Given the description of an element on the screen output the (x, y) to click on. 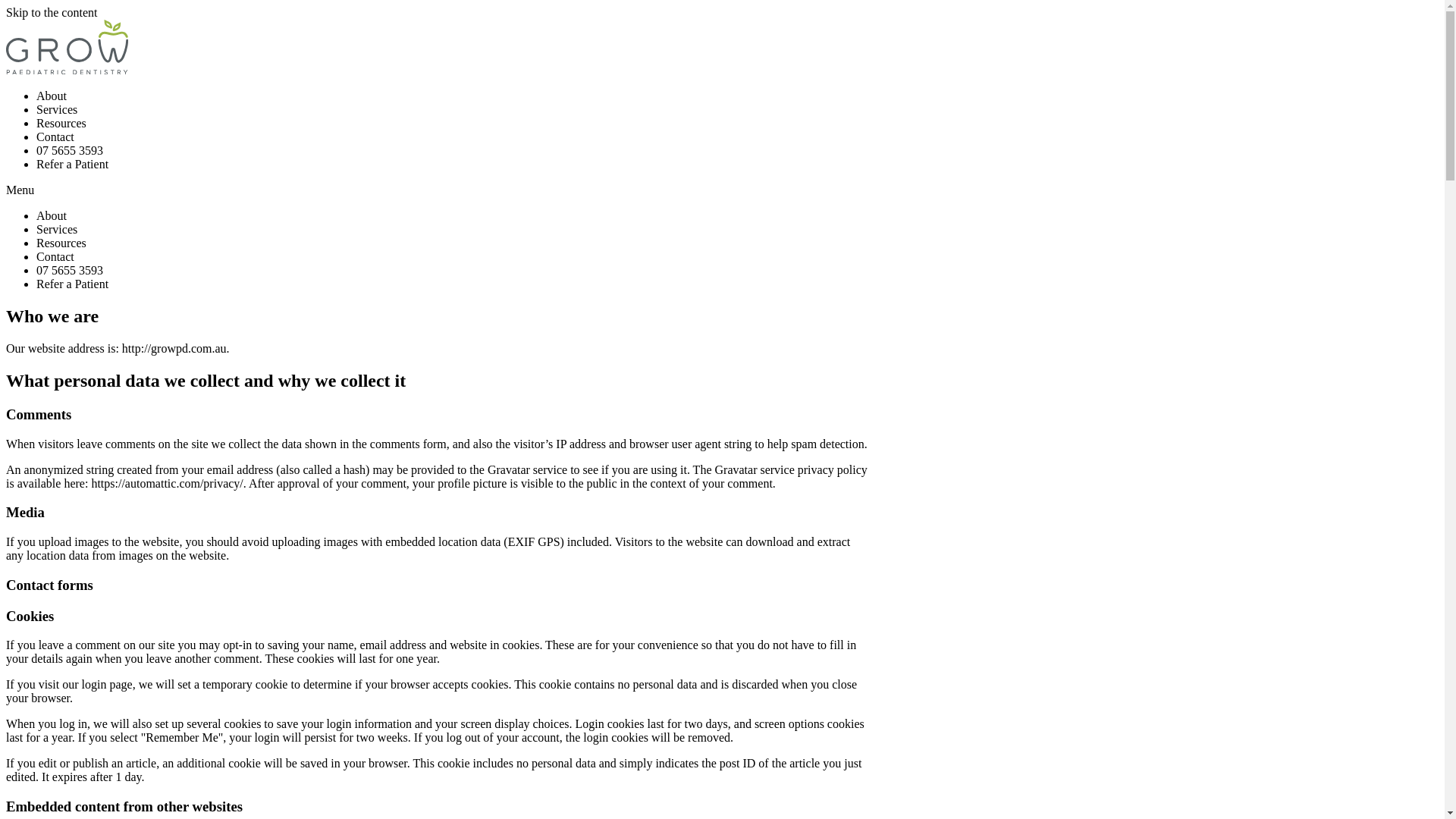
Refer a Patient Element type: text (72, 283)
Contact Element type: text (55, 136)
About Element type: text (51, 95)
Services Element type: text (56, 228)
About Element type: text (51, 215)
07 5655 3593 Element type: text (69, 269)
Resources Element type: text (61, 242)
Skip to the content Element type: text (51, 12)
Resources Element type: text (61, 122)
Services Element type: text (56, 109)
Contact Element type: text (55, 256)
07 5655 3593 Element type: text (69, 150)
Refer a Patient Element type: text (72, 163)
